Given the description of an element on the screen output the (x, y) to click on. 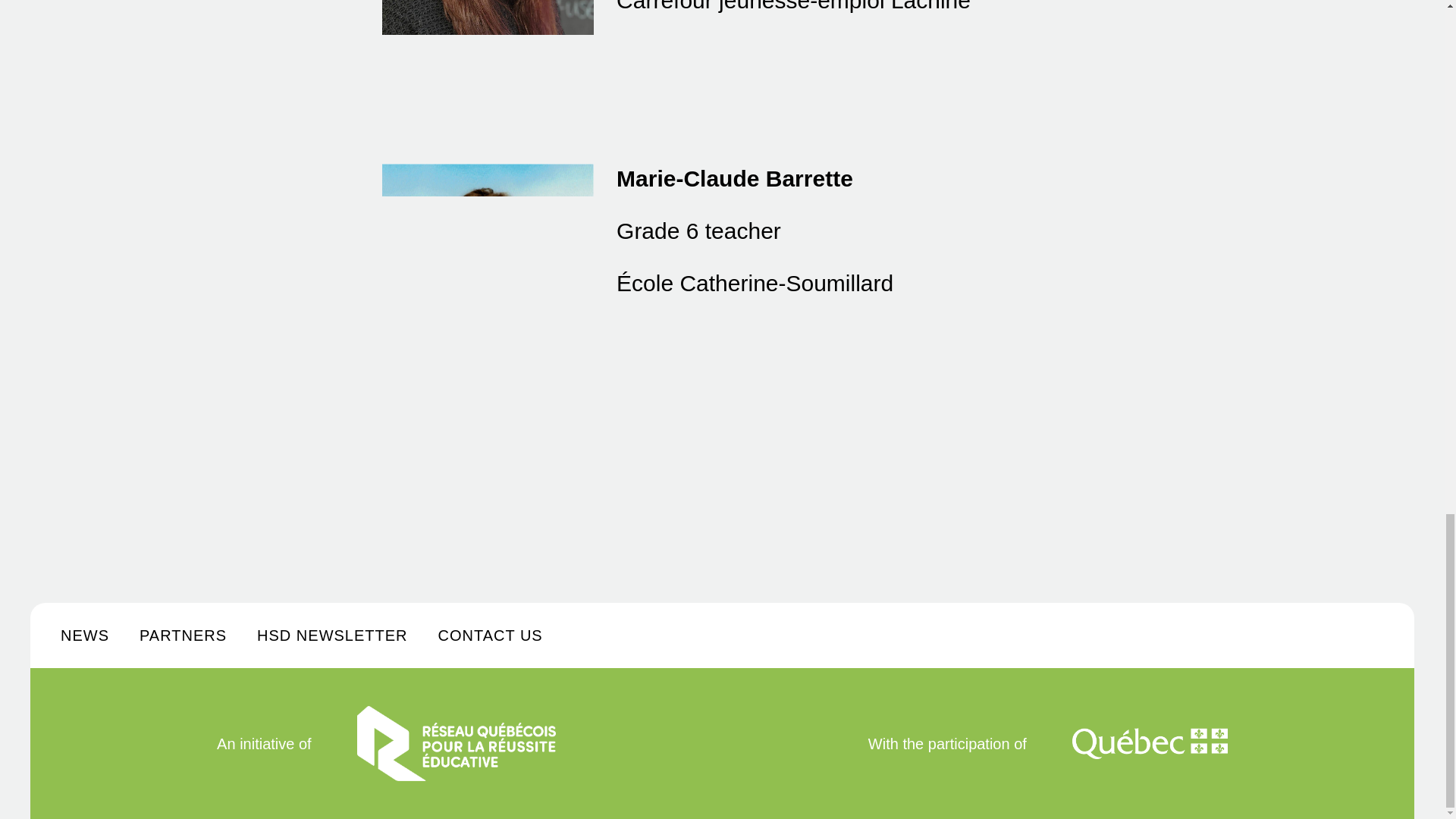
NEWS (85, 635)
HSD NEWSLETTER (332, 635)
CONTACT US (490, 635)
PARTNERS (183, 635)
